Given the description of an element on the screen output the (x, y) to click on. 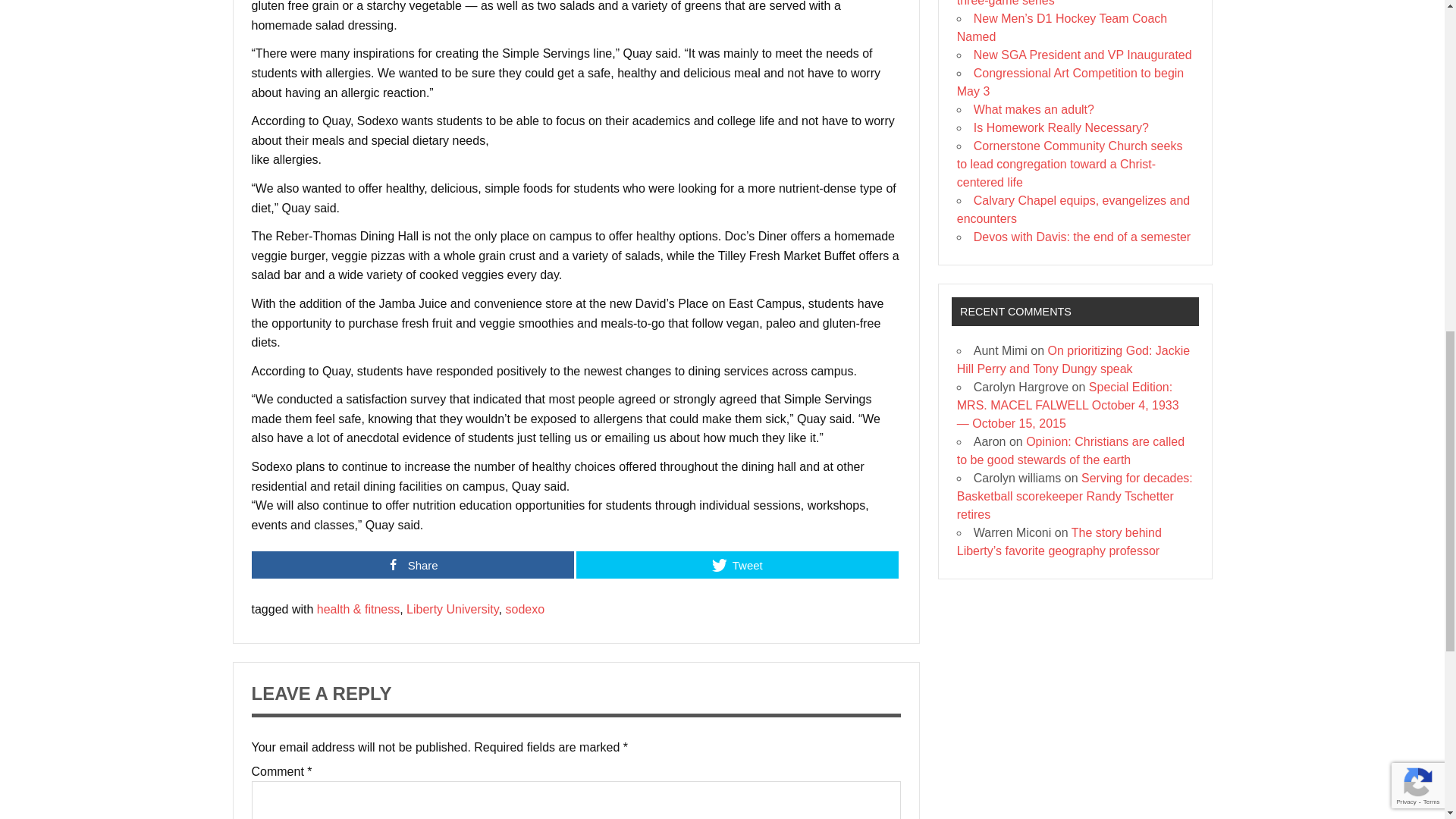
Tweet (737, 564)
Flames baseball falls to Samford in three-game series (1058, 3)
Liberty University (452, 608)
Share (412, 564)
sodexo (524, 608)
New SGA President and VP Inaugurated (1083, 54)
